Given the description of an element on the screen output the (x, y) to click on. 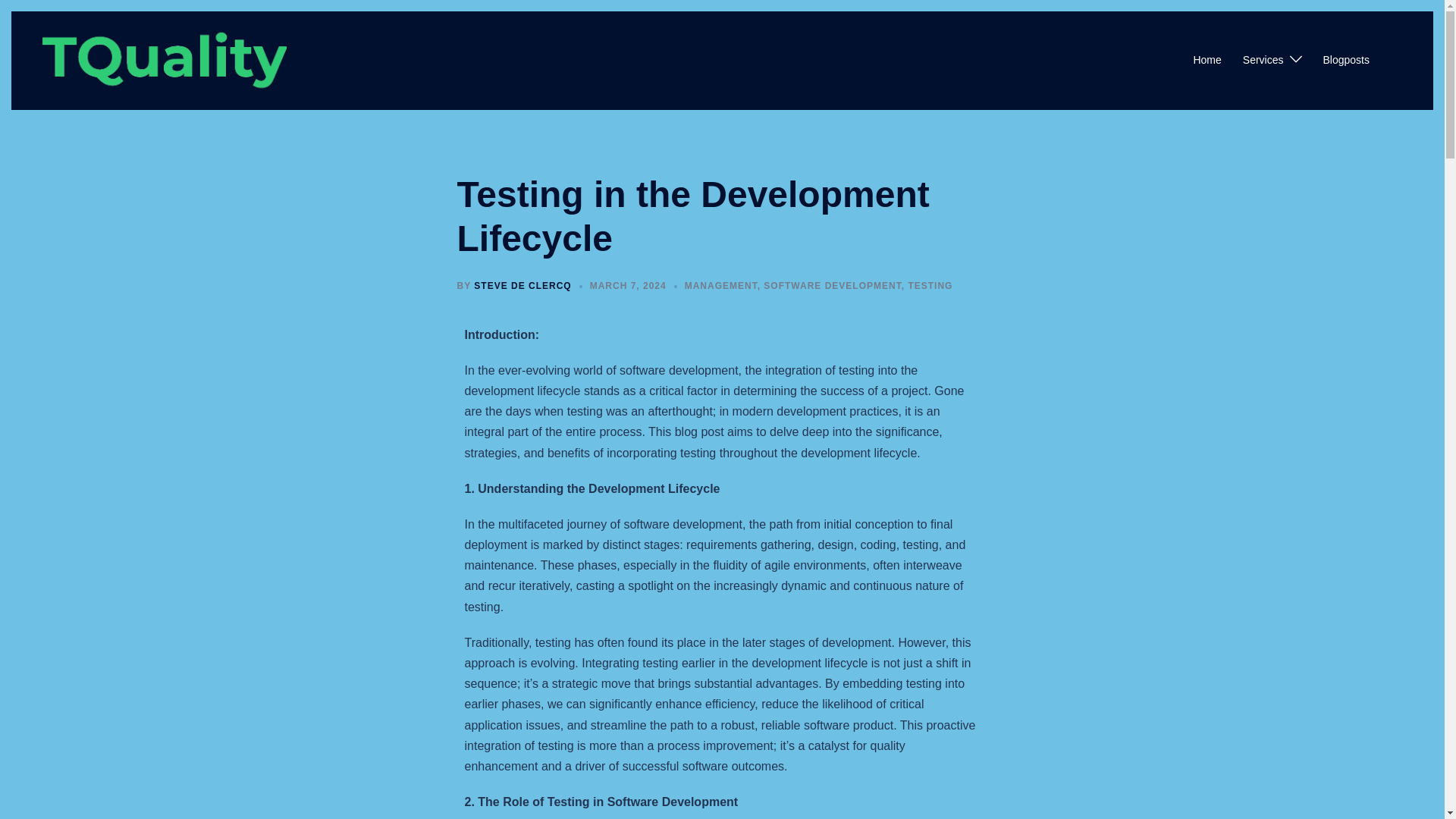
Services (1263, 60)
MANAGEMENT (720, 285)
MARCH 7, 2024 (627, 285)
STEVE DE CLERCQ (522, 285)
SOFTWARE DEVELOPMENT (831, 285)
TESTING (929, 285)
Blogposts (1346, 60)
TQuality (164, 59)
Home (1206, 60)
